Given the description of an element on the screen output the (x, y) to click on. 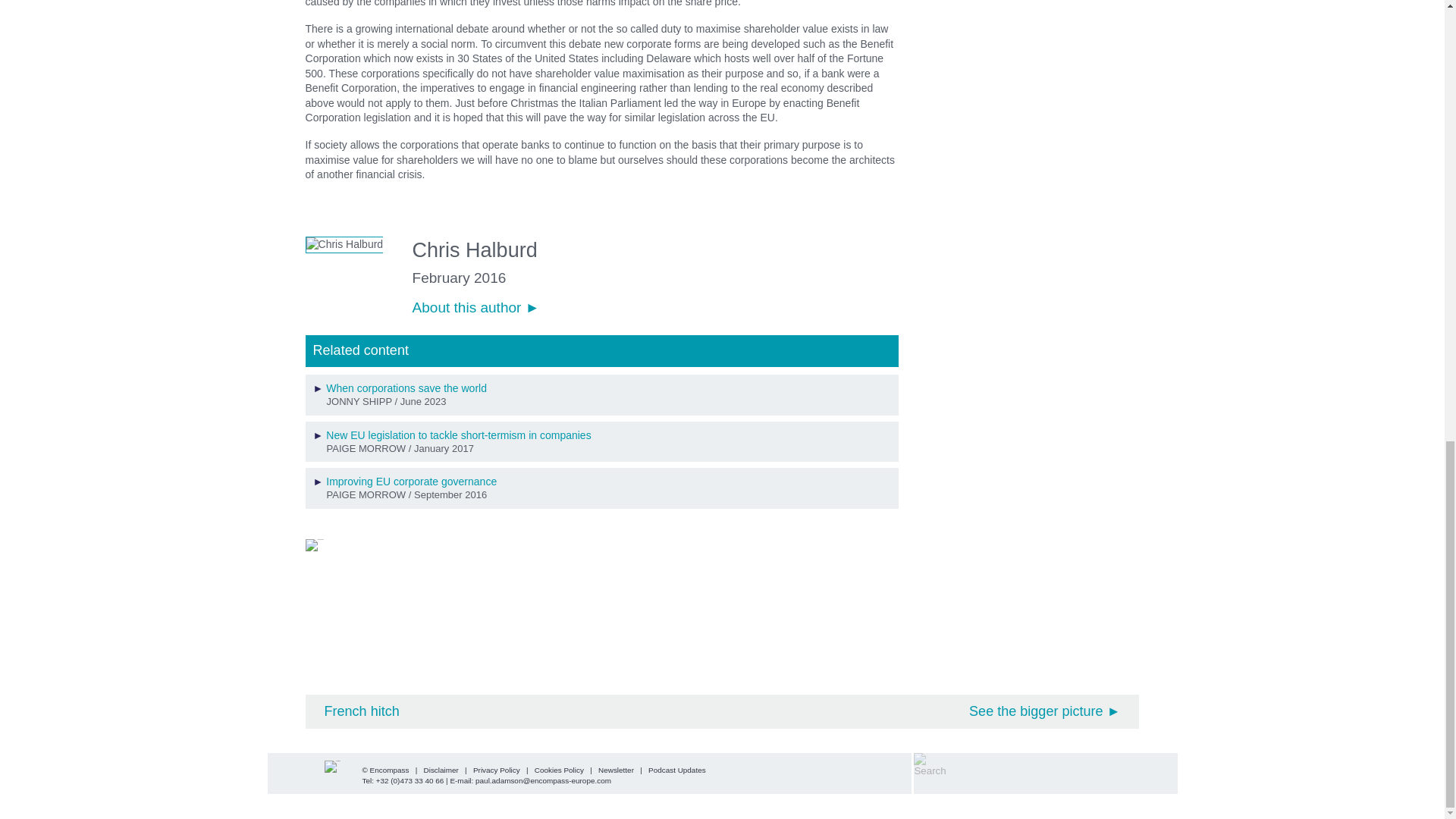
Improving EU corporate governance (411, 481)
New EU legislation to tackle short-termism in companies (458, 435)
Cookies Policy (558, 769)
Privacy Policy (496, 769)
Podcast Updates (676, 769)
Newsletter (615, 769)
Disclaimer (440, 769)
When corporations save the world (406, 387)
